Given the description of an element on the screen output the (x, y) to click on. 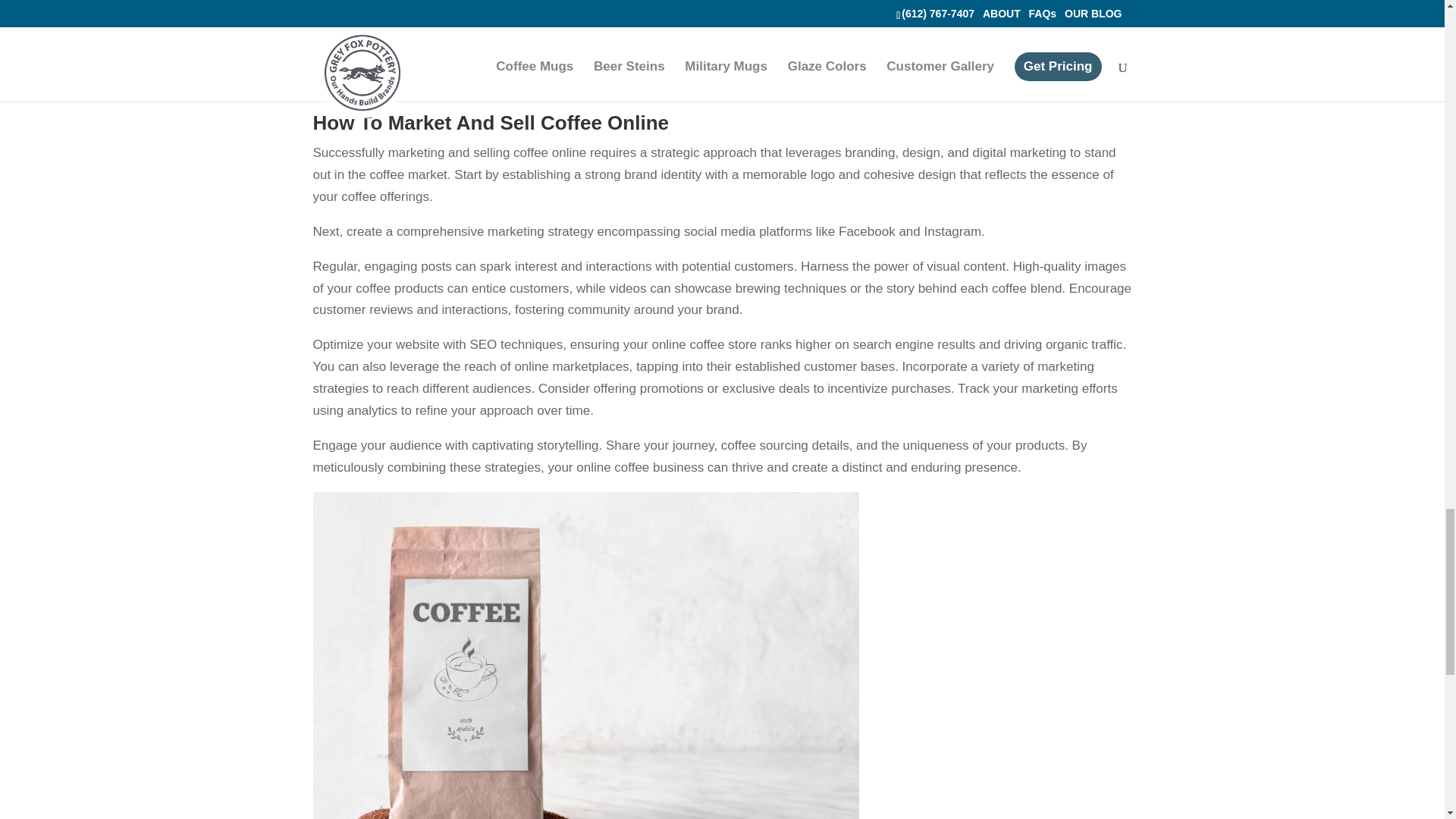
custom-branded stoneware mugs (892, 20)
